Given the description of an element on the screen output the (x, y) to click on. 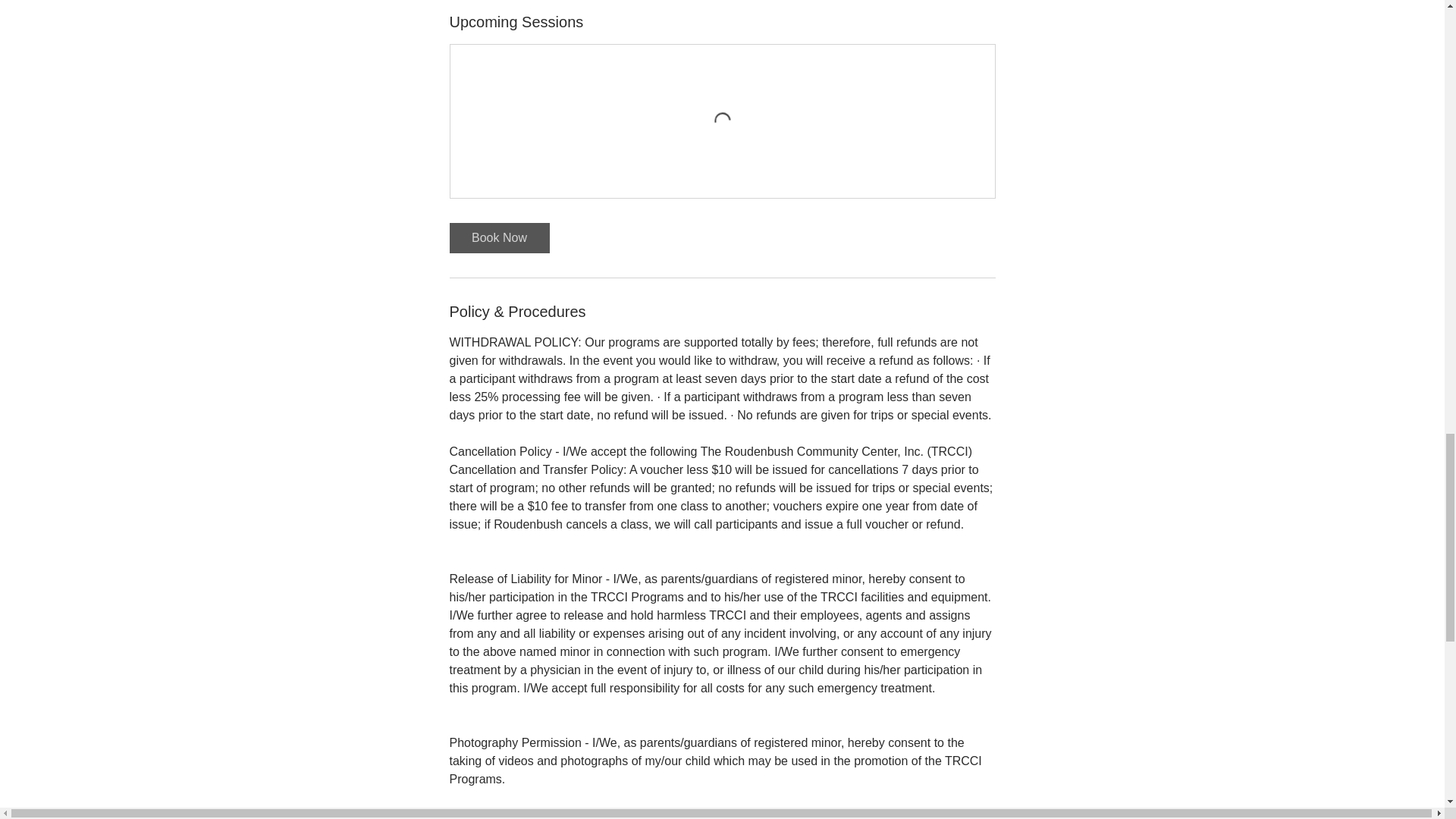
Book Now (498, 237)
